Given the description of an element on the screen output the (x, y) to click on. 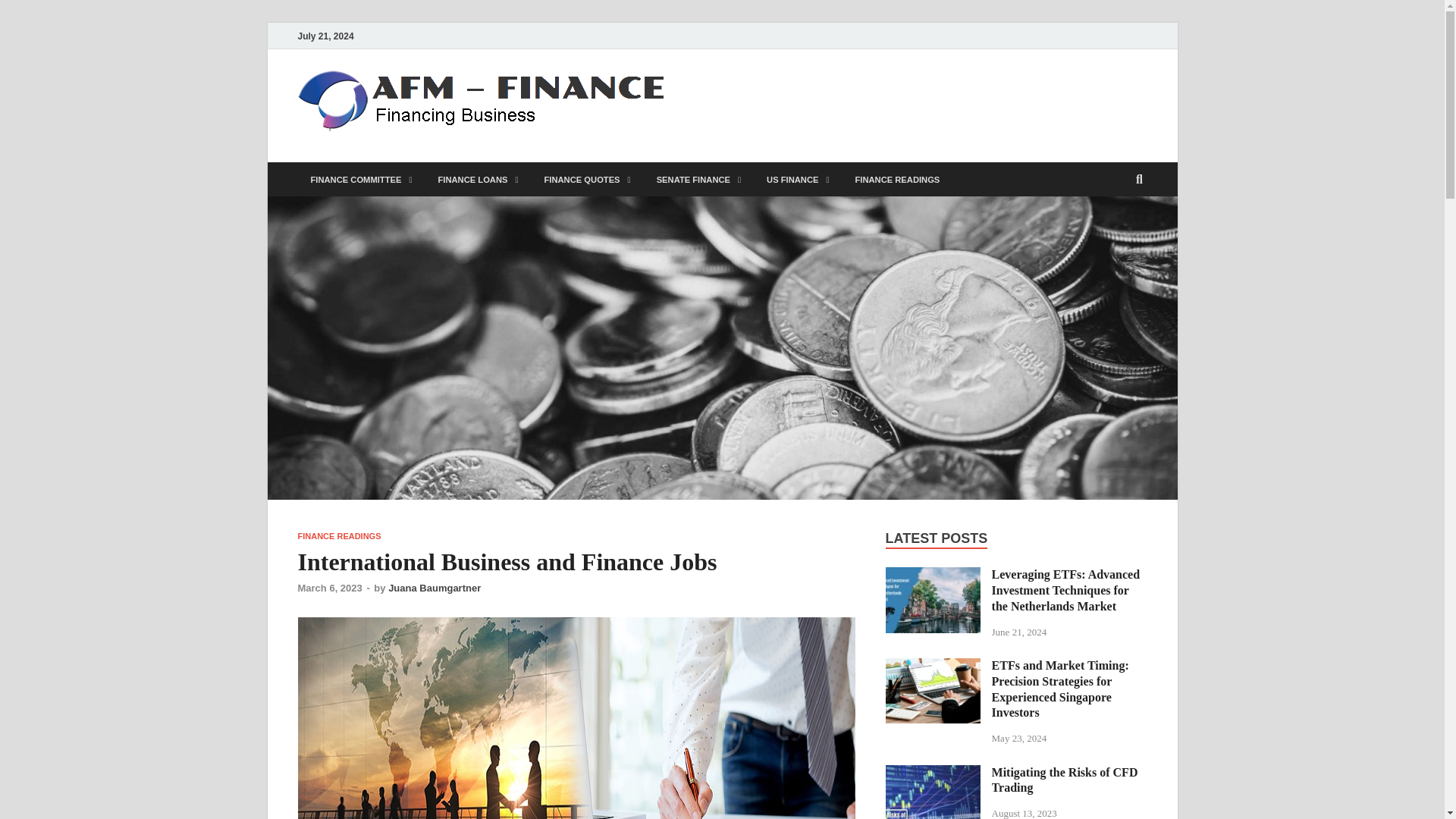
FINANCE QUOTES (587, 179)
US FINANCE (797, 179)
FINANCE READINGS (896, 179)
FINANCE LOANS (478, 179)
FINANCE COMMITTEE (361, 179)
SENATE FINANCE (698, 179)
Mitigating the Risks of CFD Trading (932, 773)
